Given the description of an element on the screen output the (x, y) to click on. 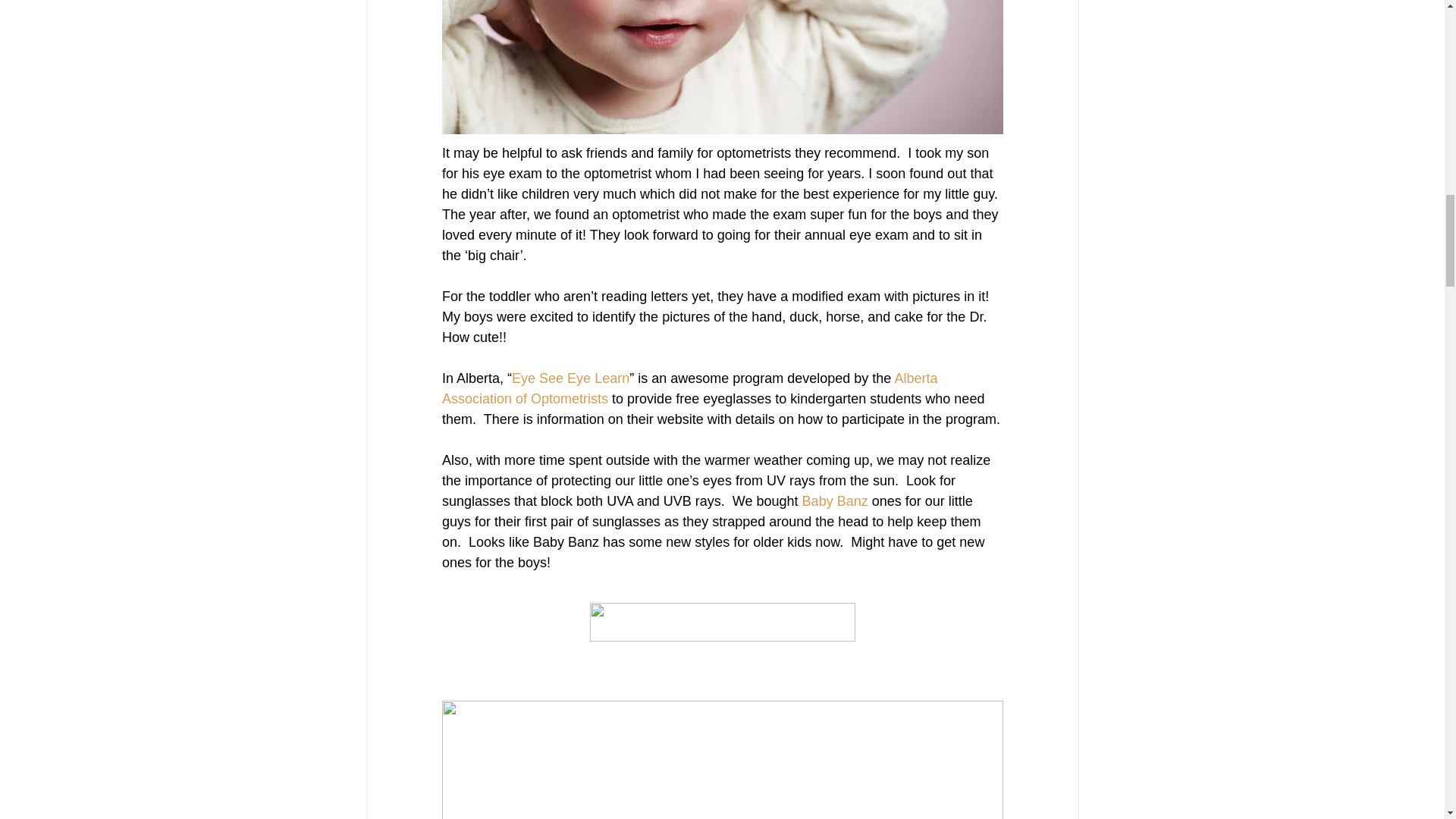
Eye See Eye Learn (570, 378)
Baby Banz (834, 500)
Alberta Association of Optometrists (690, 388)
